Given the description of an element on the screen output the (x, y) to click on. 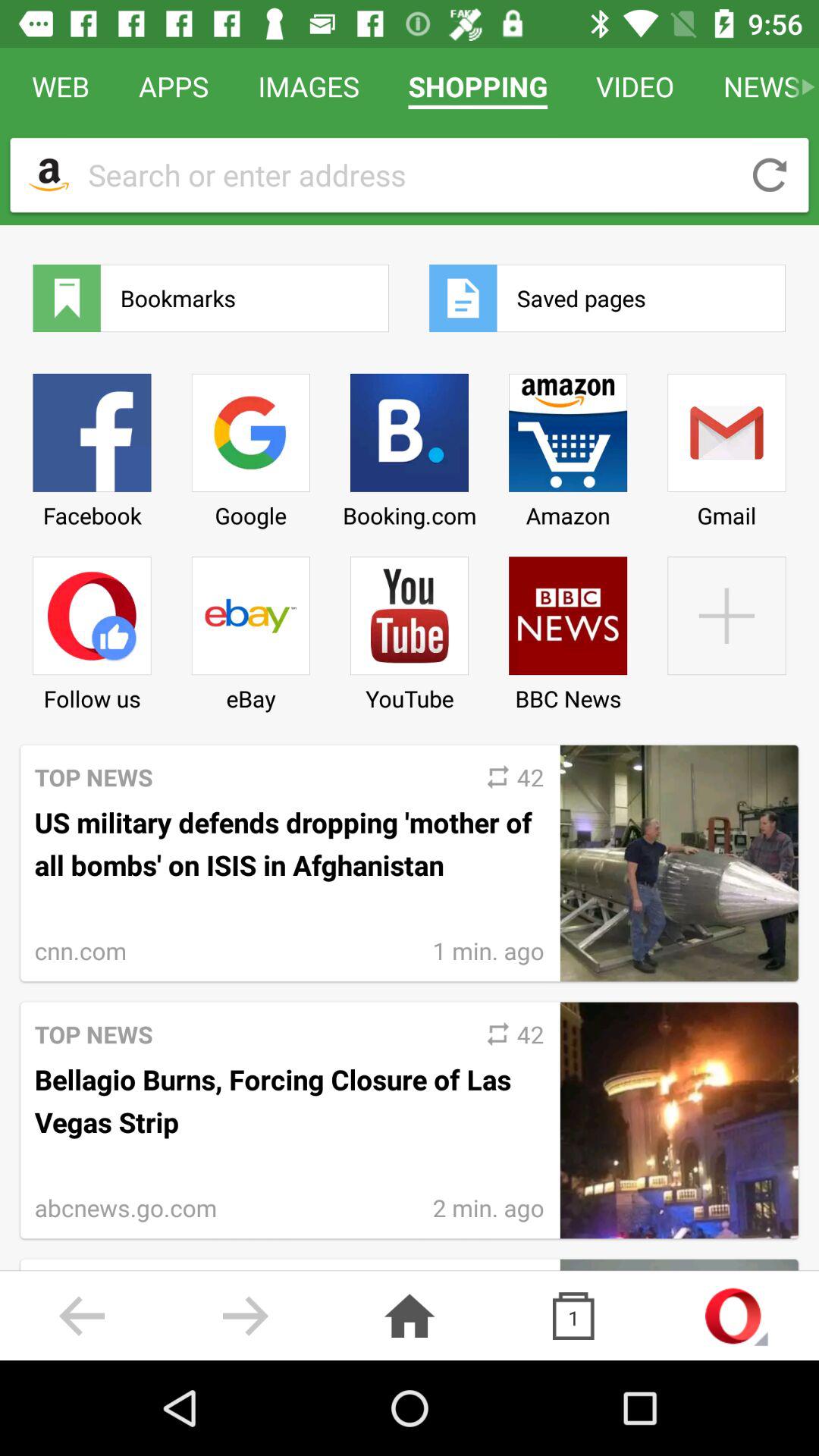
tap icon to the right of images item (477, 86)
